Given the description of an element on the screen output the (x, y) to click on. 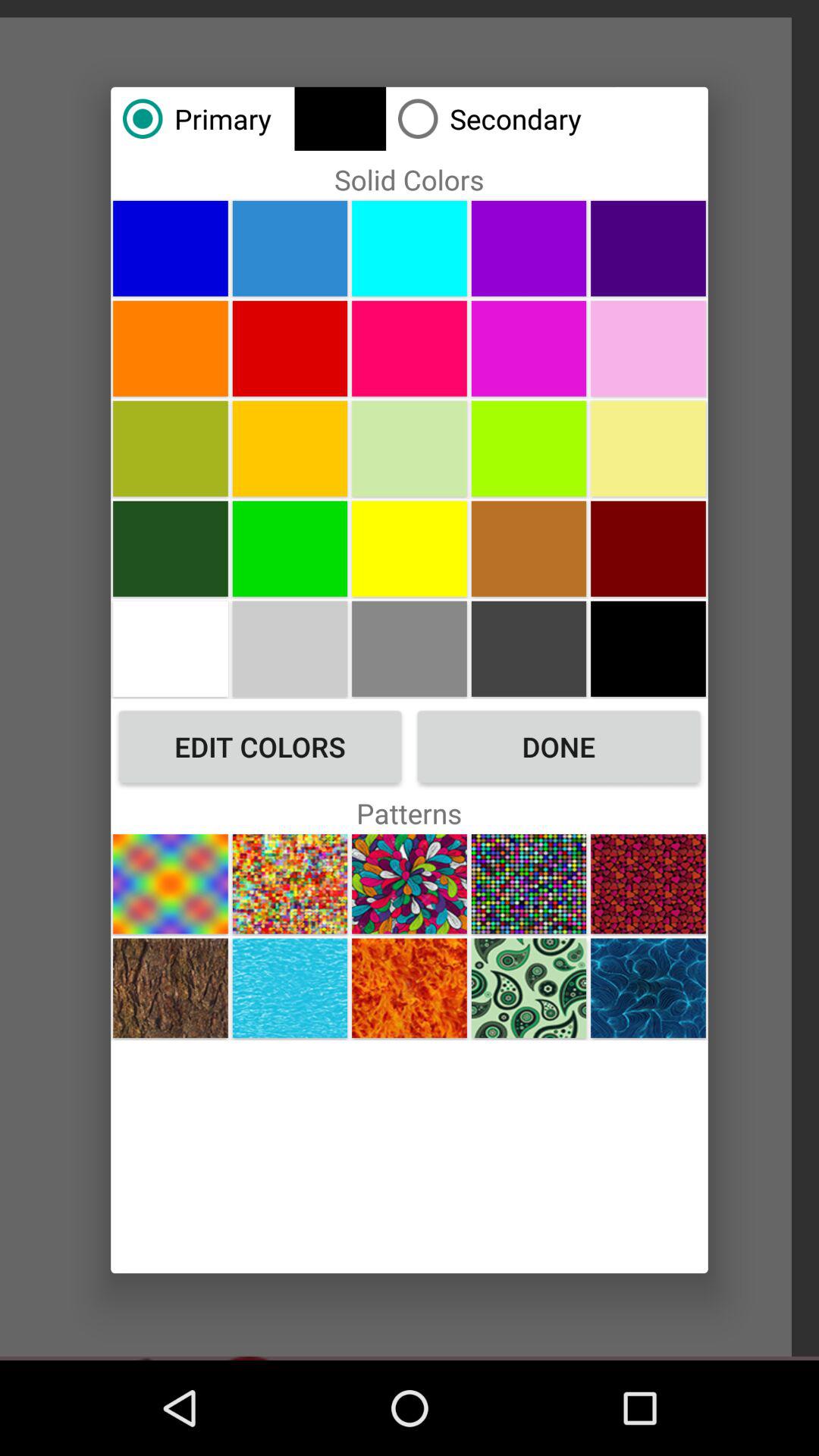
select solid color (289, 248)
